Given the description of an element on the screen output the (x, y) to click on. 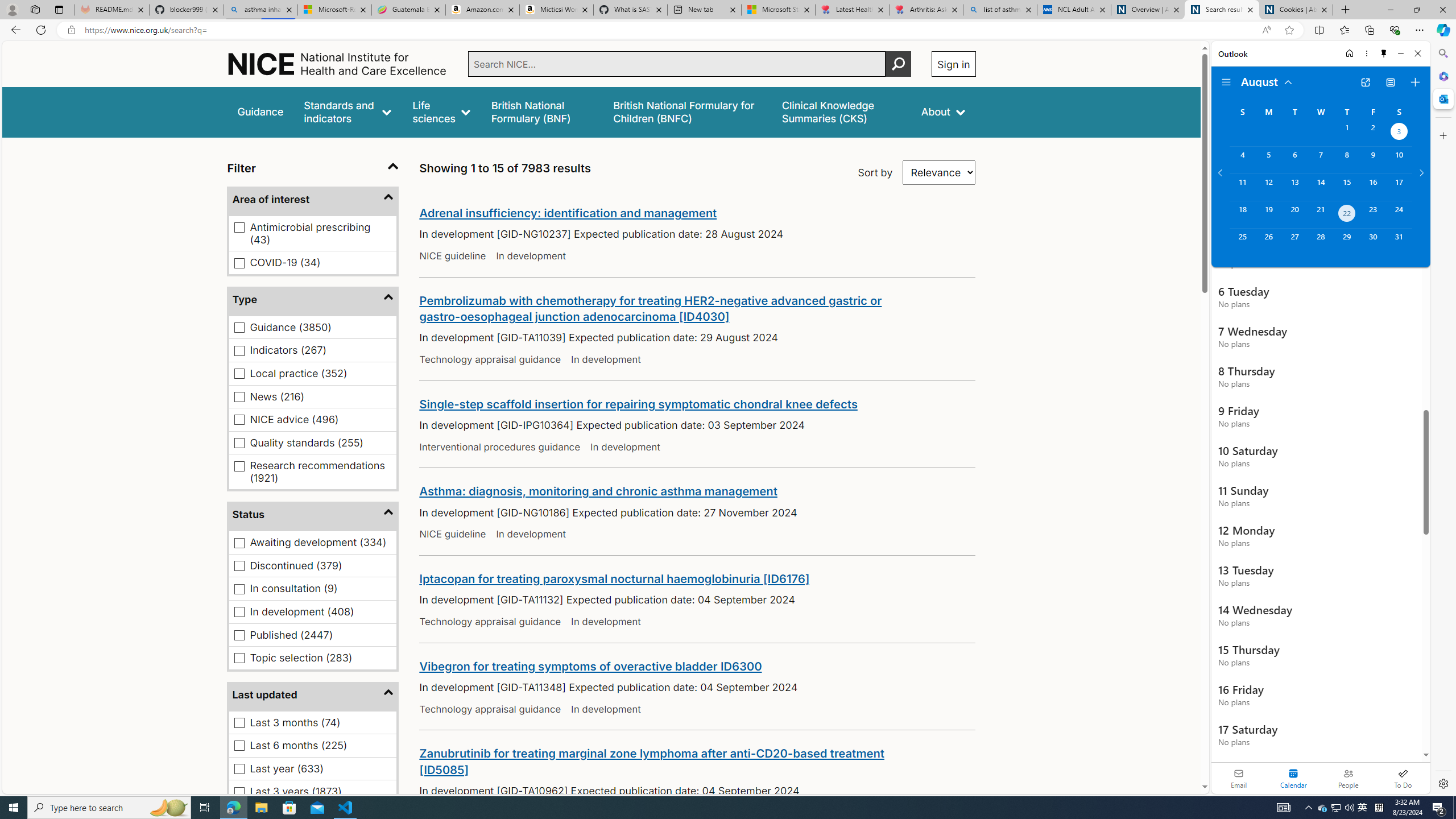
Unpin side pane (1383, 53)
Antimicrobial prescribing (43) (239, 227)
Microsoft-Report a Concern to Bing (334, 9)
Thursday, August 29, 2024.  (1346, 241)
Perform search (898, 63)
Awaiting development (334) (239, 542)
About (942, 111)
Sunday, August 25, 2024.  (1242, 241)
More options (1366, 53)
Email (1238, 777)
